Given the description of an element on the screen output the (x, y) to click on. 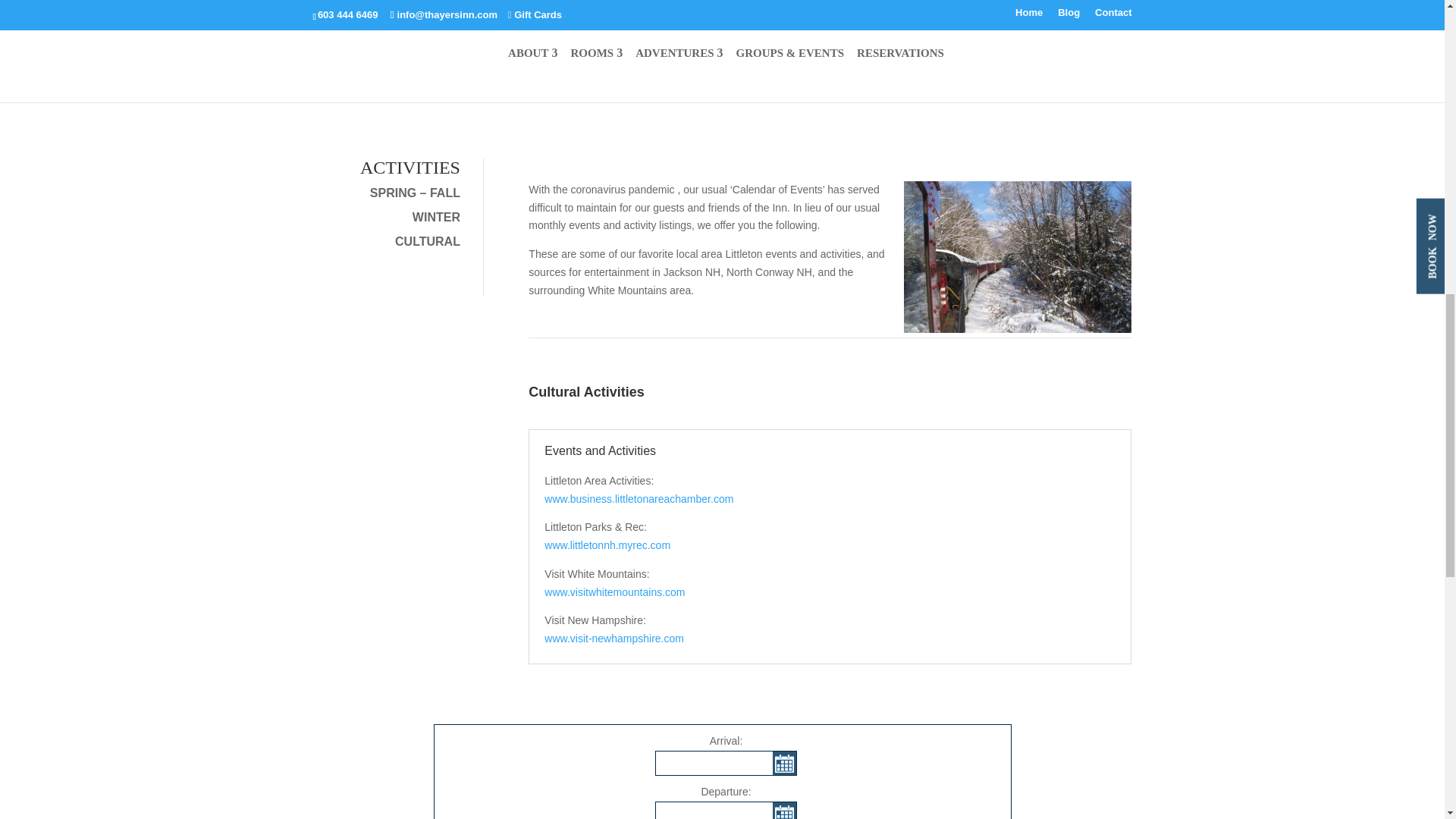
About (334, 83)
Adventures (479, 83)
Rooms (400, 83)
